Given the description of an element on the screen output the (x, y) to click on. 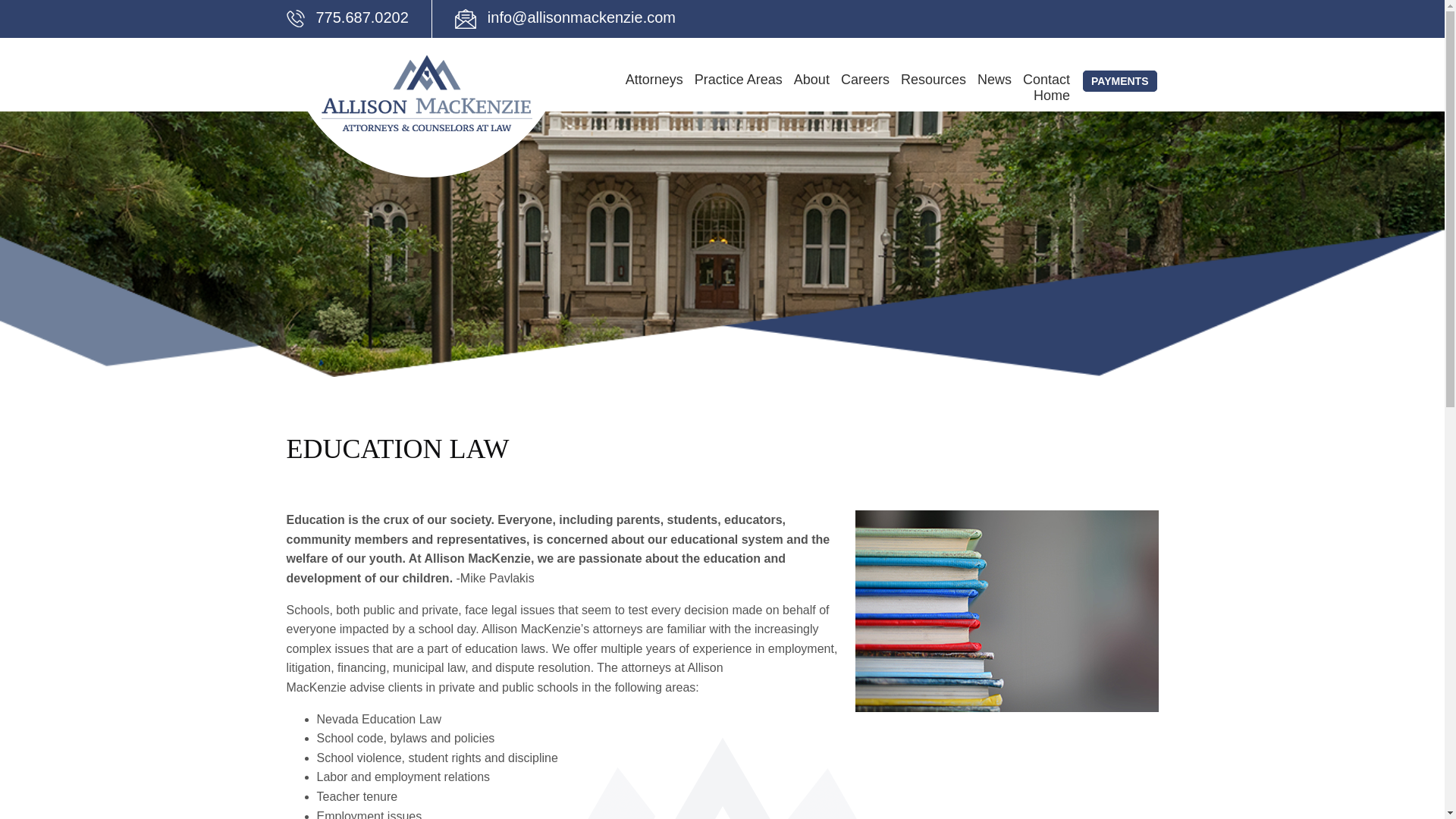
Contact (1052, 91)
Careers (871, 91)
Practice Areas (743, 91)
About (817, 91)
News (999, 91)
Resources (938, 91)
PAYMENTS (1119, 80)
